Given the description of an element on the screen output the (x, y) to click on. 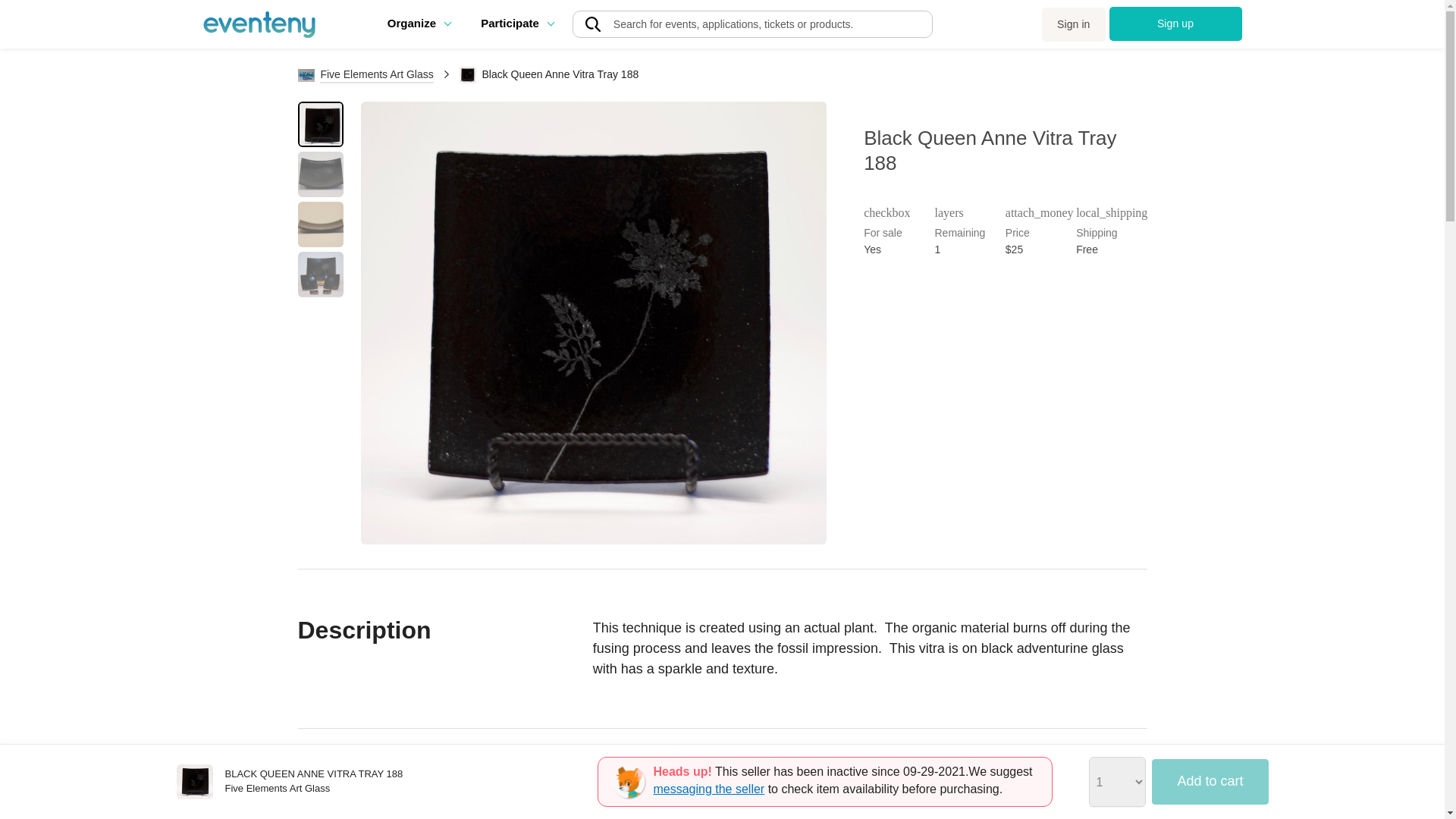
Black Queen Anne Vitra Tray 188 (194, 781)
Sign in (1073, 24)
Create events your way - Eventeny (259, 24)
Participate (516, 22)
Organize (418, 22)
Five Elements Art Glass (366, 73)
